Given the description of an element on the screen output the (x, y) to click on. 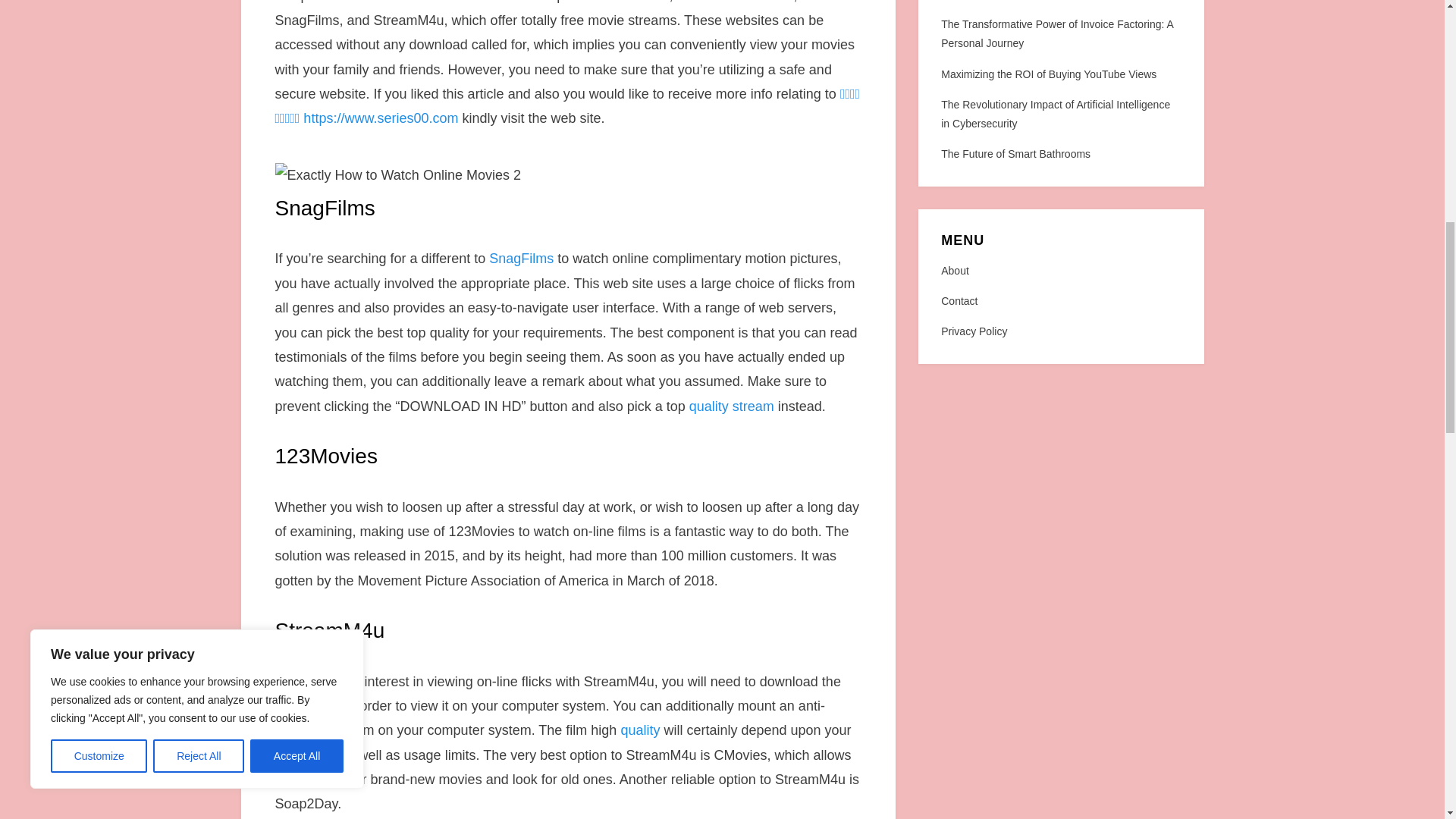
quality (639, 729)
SnagFilms (521, 258)
quality stream (731, 406)
